Given the description of an element on the screen output the (x, y) to click on. 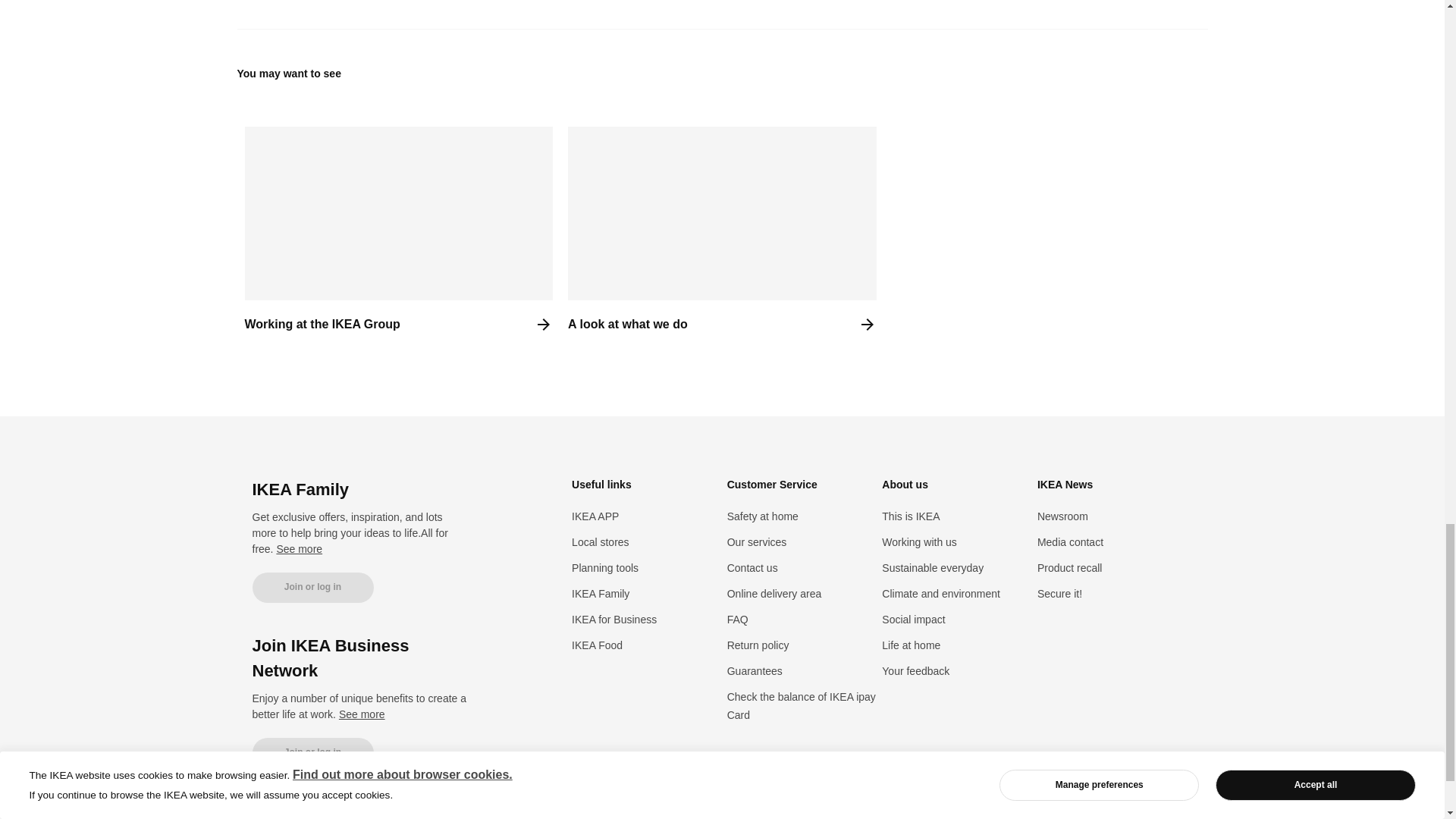
Climate and environment (941, 593)
IKEA Family (600, 593)
Working with us (919, 541)
FAQ (737, 619)
Return policy (757, 645)
Guarantees (754, 671)
Join or log in (311, 752)
Online delivery area (774, 593)
IKEA for Business (614, 619)
Sustainable everyday (933, 567)
